Given the description of an element on the screen output the (x, y) to click on. 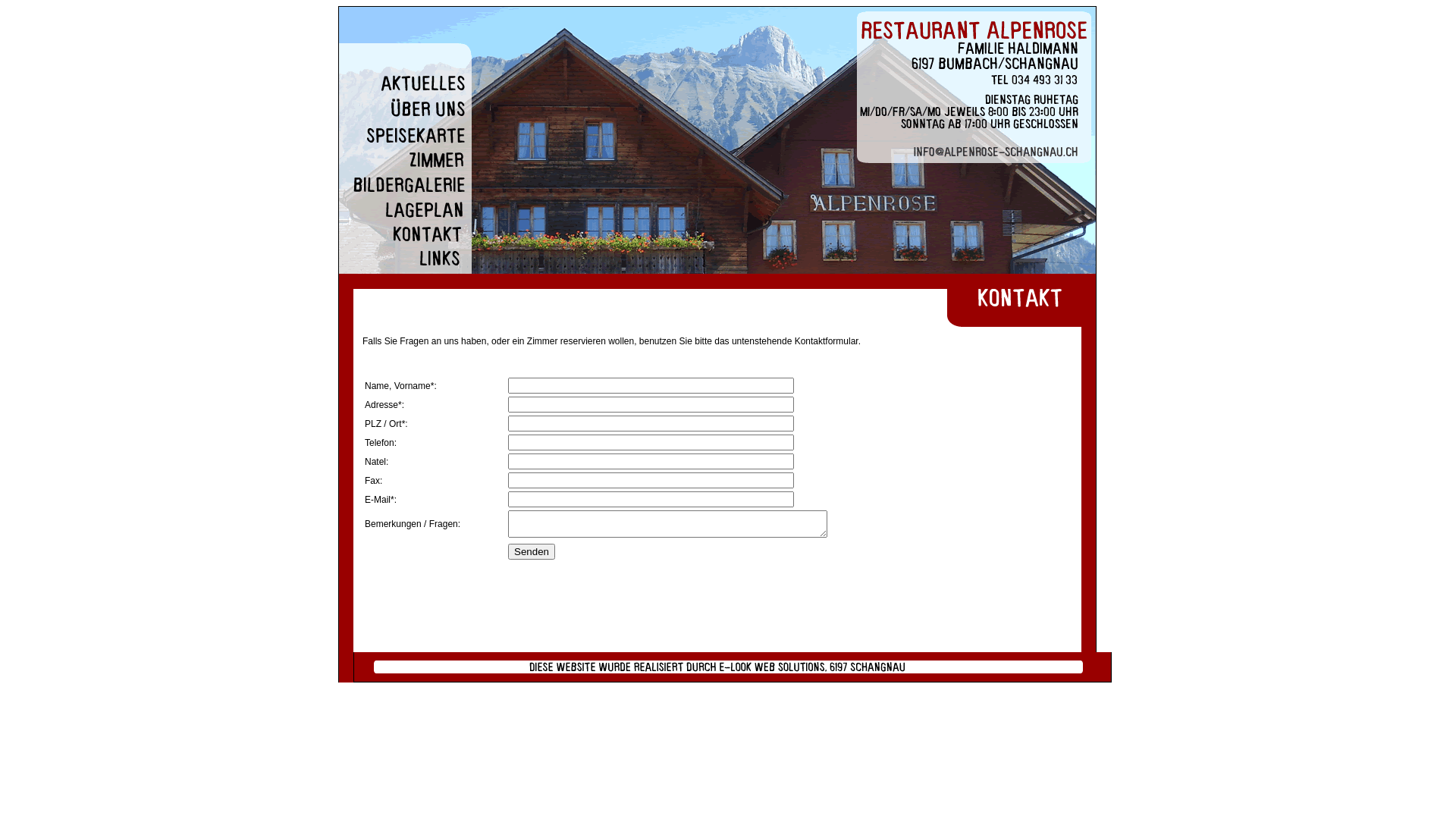
Senden Element type: text (531, 551)
